Given the description of an element on the screen output the (x, y) to click on. 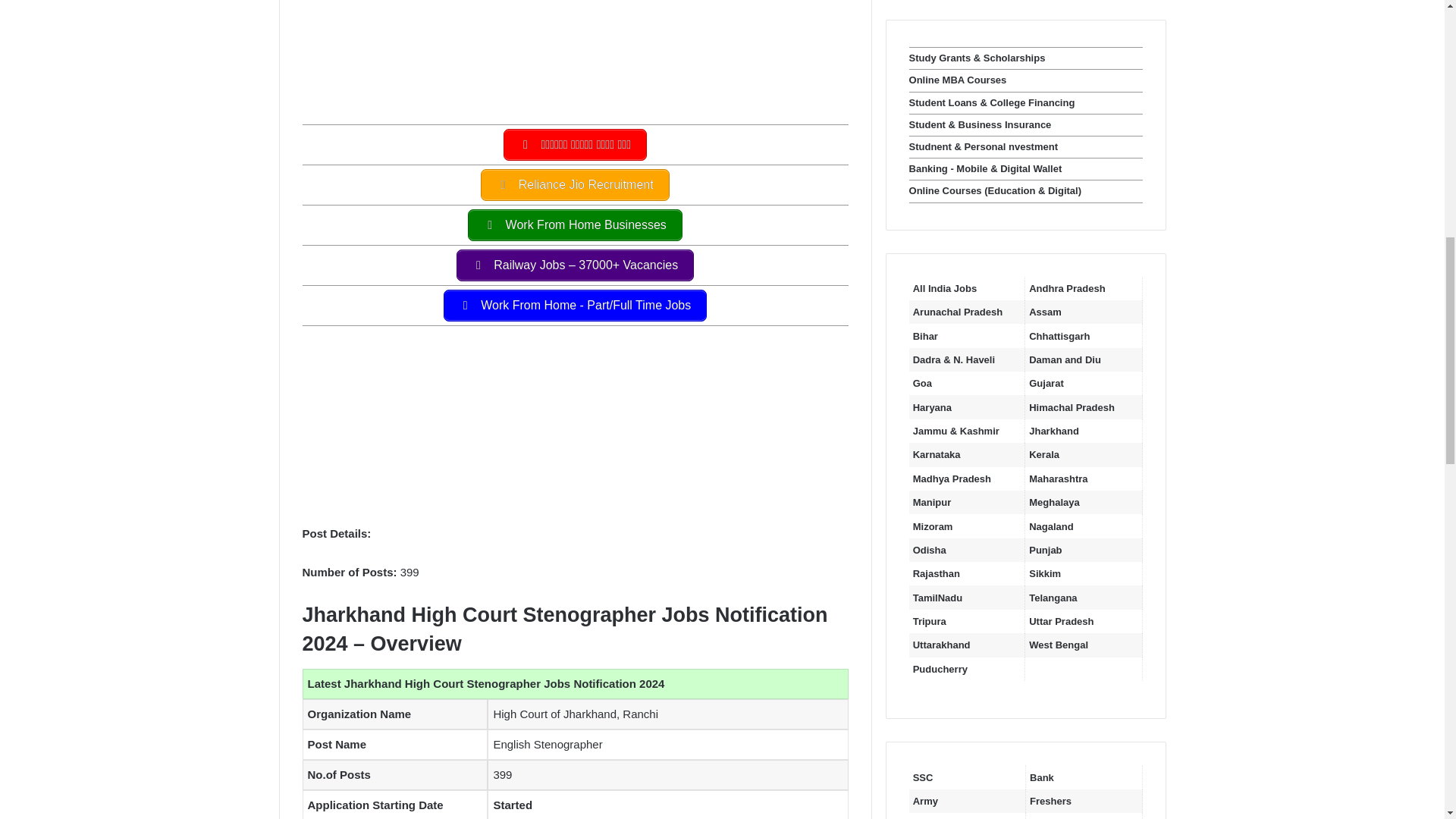
Work From Home Businesses (574, 224)
Online MBA Courses (957, 79)
All India Jobs (944, 288)
Reliance Jio Recruitment (574, 184)
Andhra Pradesh (1067, 288)
